Given the description of an element on the screen output the (x, y) to click on. 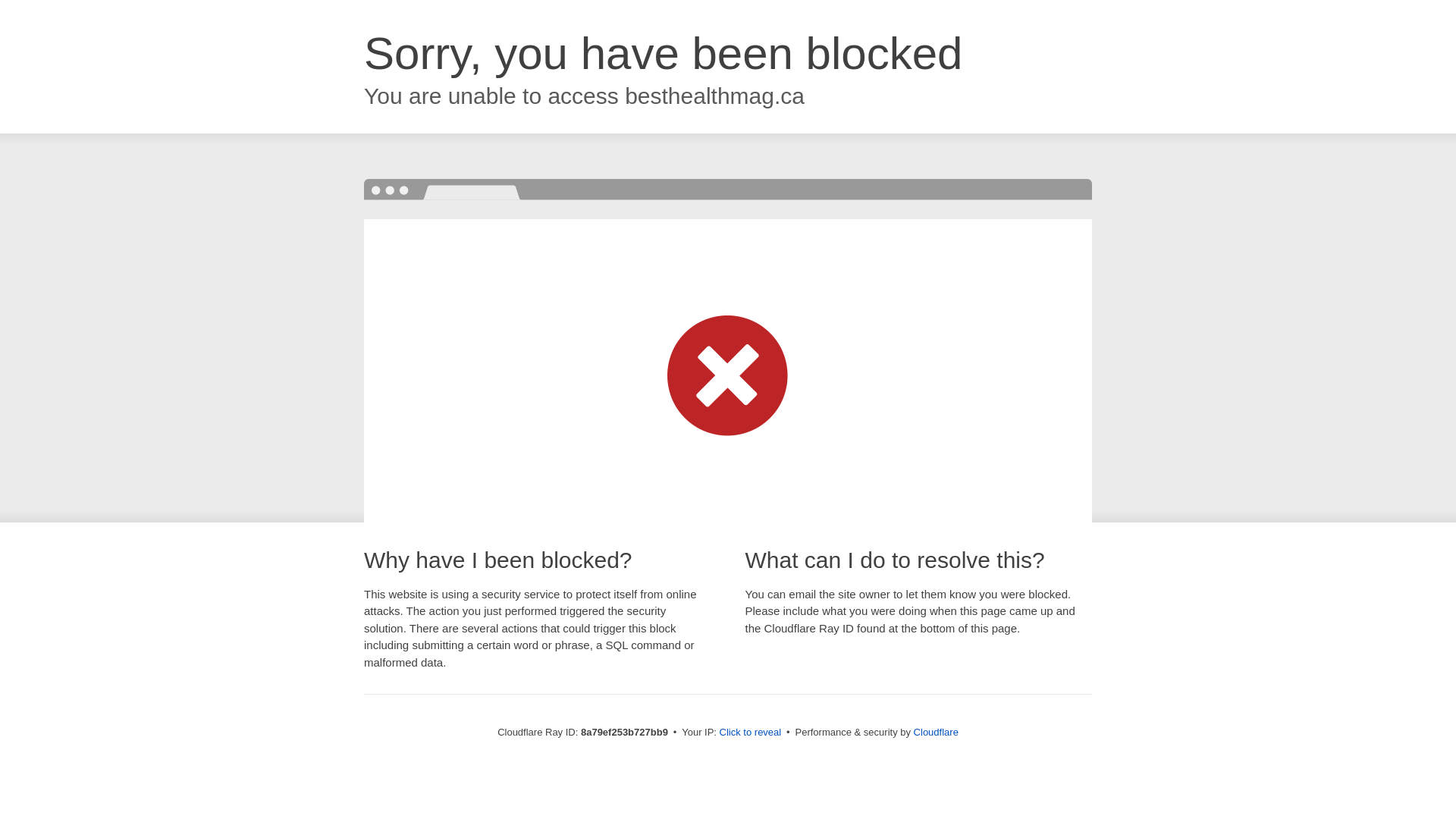
Cloudflare (936, 731)
Click to reveal (750, 732)
